Given the description of an element on the screen output the (x, y) to click on. 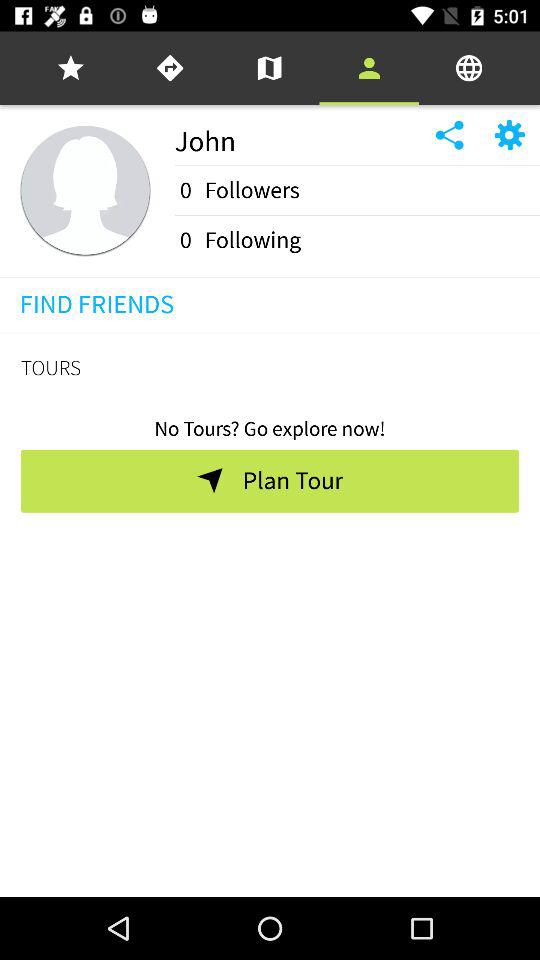
select icon to the right of john icon (469, 68)
